Given the description of an element on the screen output the (x, y) to click on. 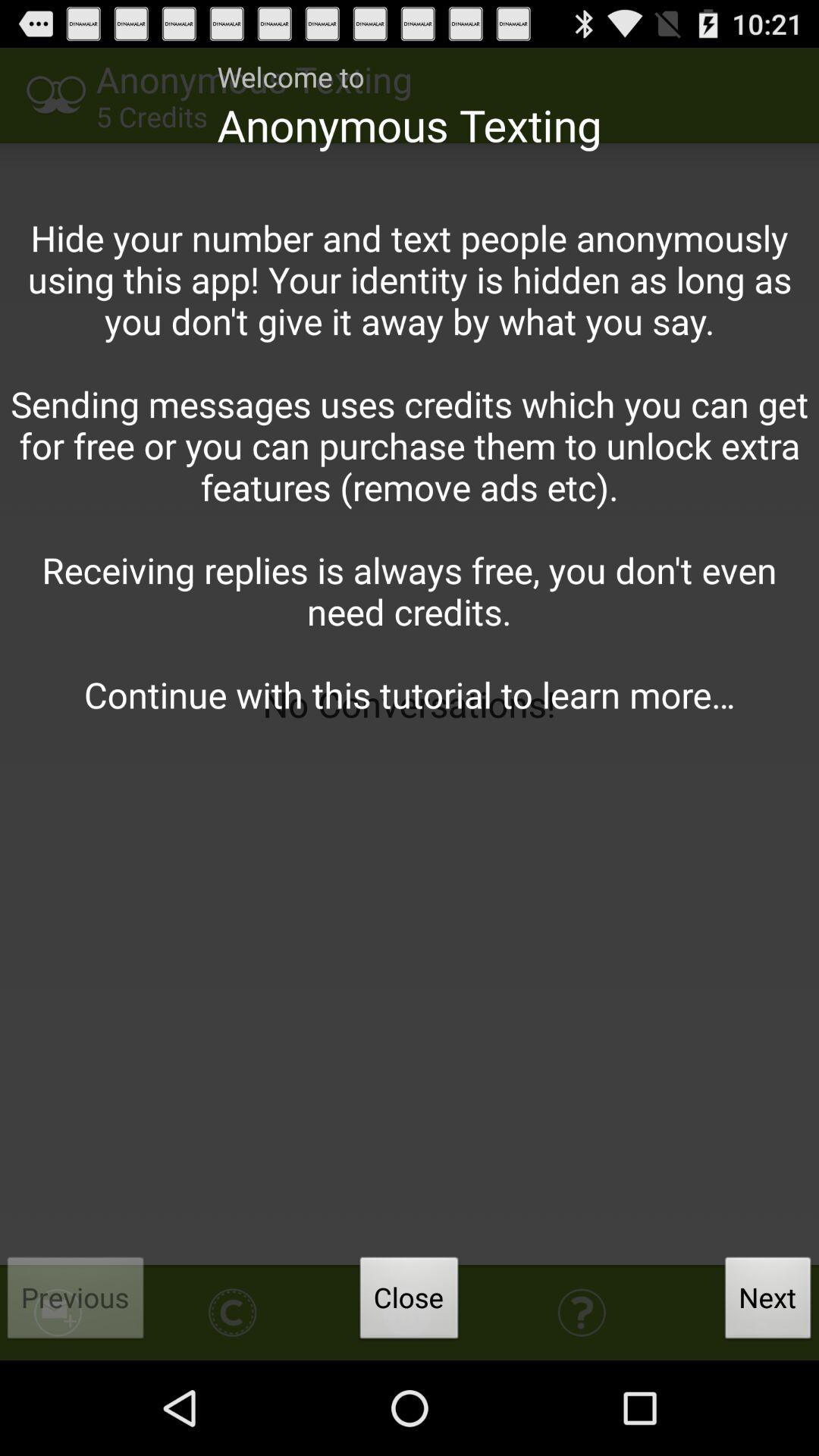
jump until next (768, 1302)
